Given the description of an element on the screen output the (x, y) to click on. 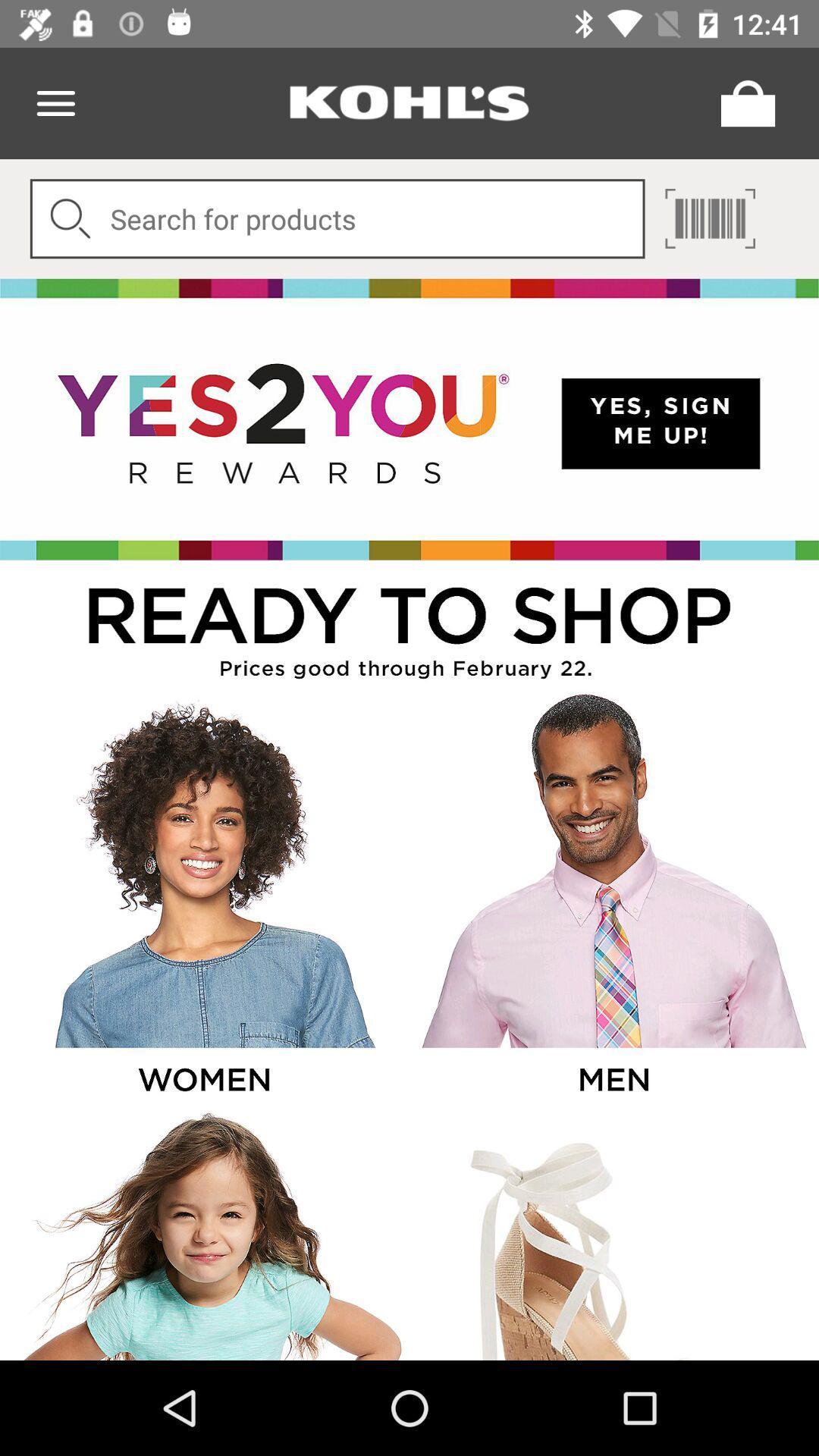
go to homepage (409, 103)
